Given the description of an element on the screen output the (x, y) to click on. 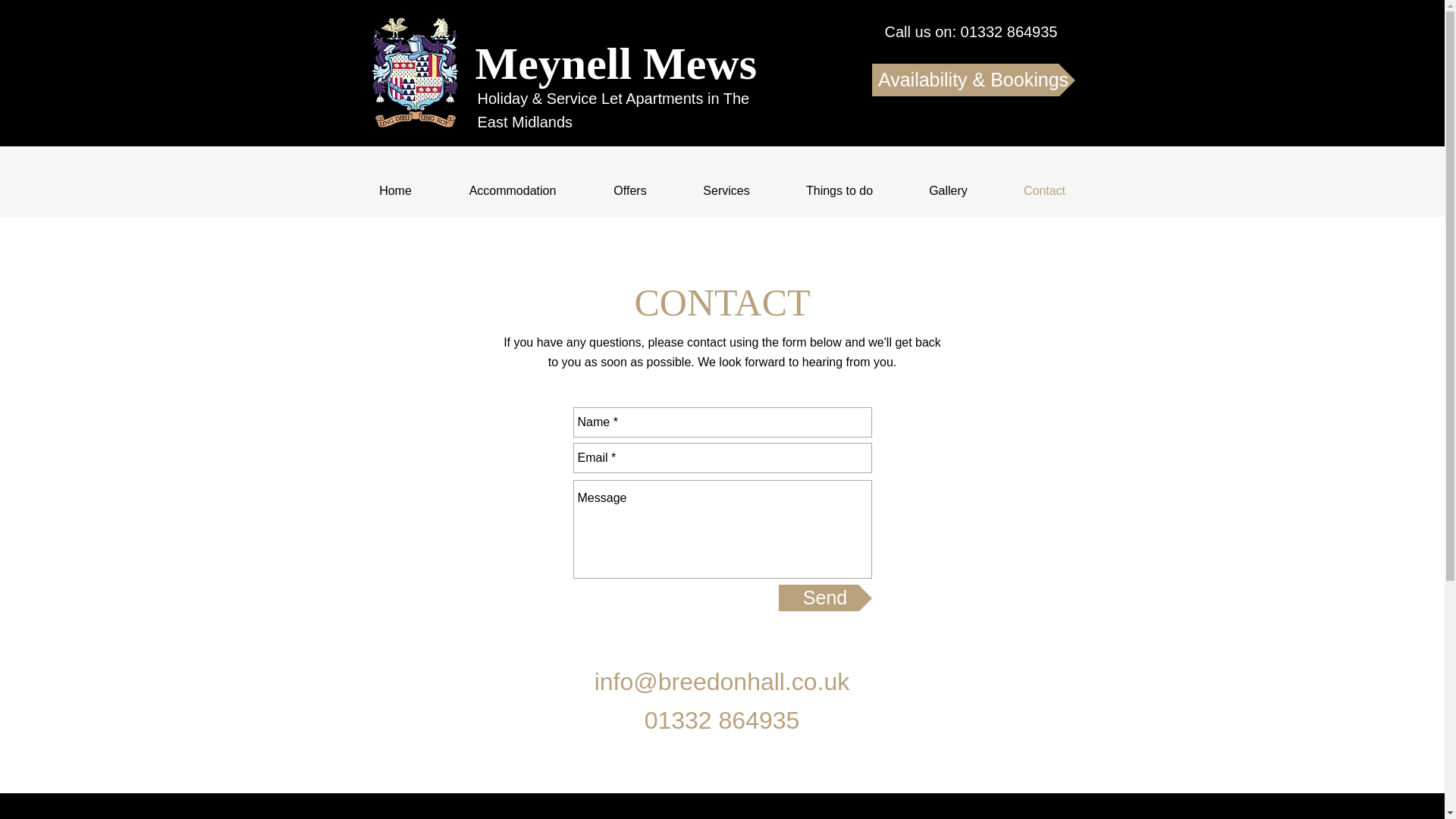
01332 864935 (722, 719)
Meynell Mews (615, 65)
Call us on: 01332 864935 (971, 31)
Offers (630, 190)
Gallery (947, 190)
Home (394, 190)
Send (823, 597)
Contact (1043, 190)
Accommodation (512, 190)
Things to do (839, 190)
